Given the description of an element on the screen output the (x, y) to click on. 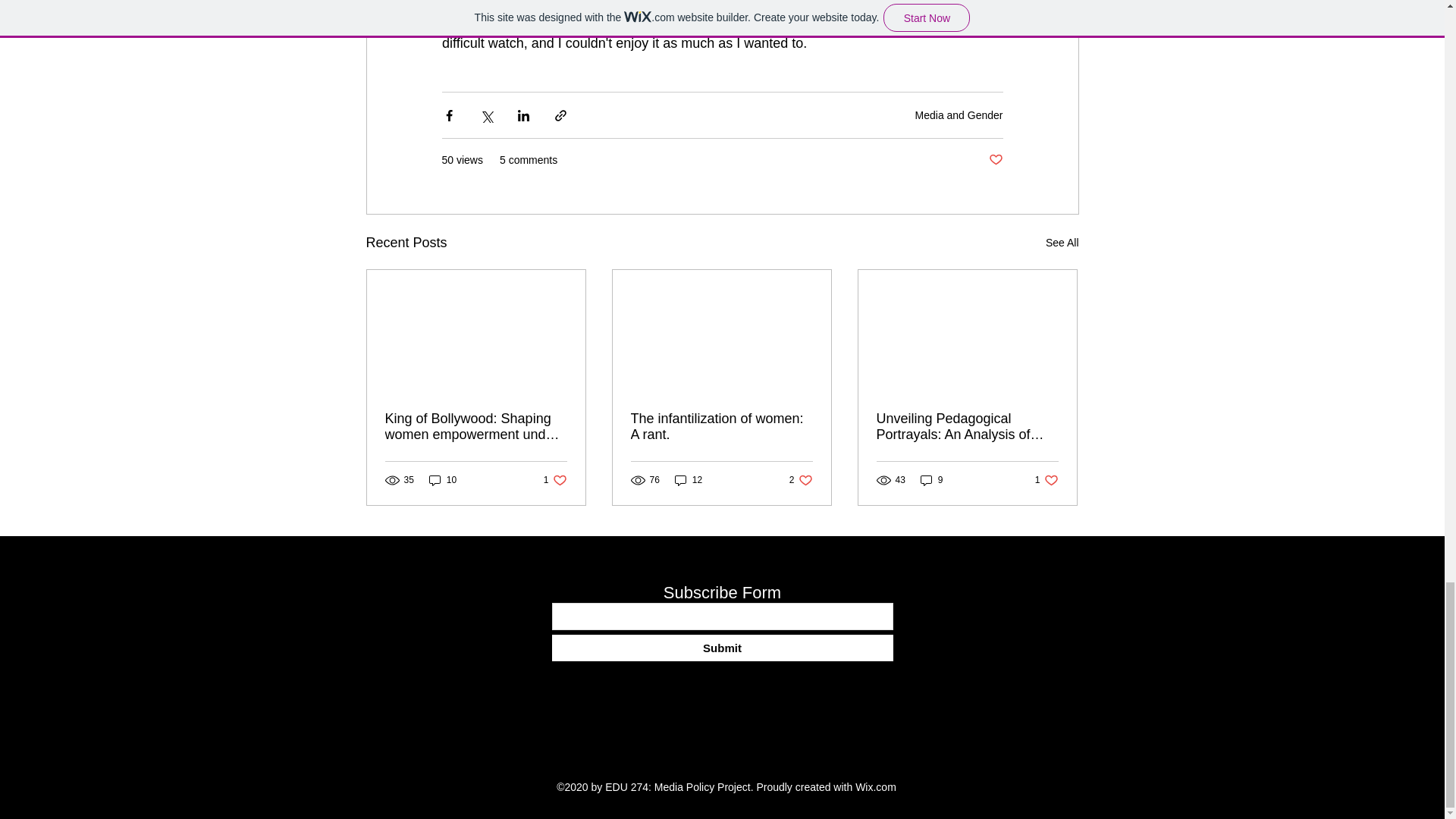
Media and Gender (959, 114)
The infantilization of women: A rant. (800, 480)
Submit (721, 427)
10 (722, 647)
Post not marked as liked (443, 480)
See All (555, 480)
12 (995, 160)
9 (1061, 242)
